Given the description of an element on the screen output the (x, y) to click on. 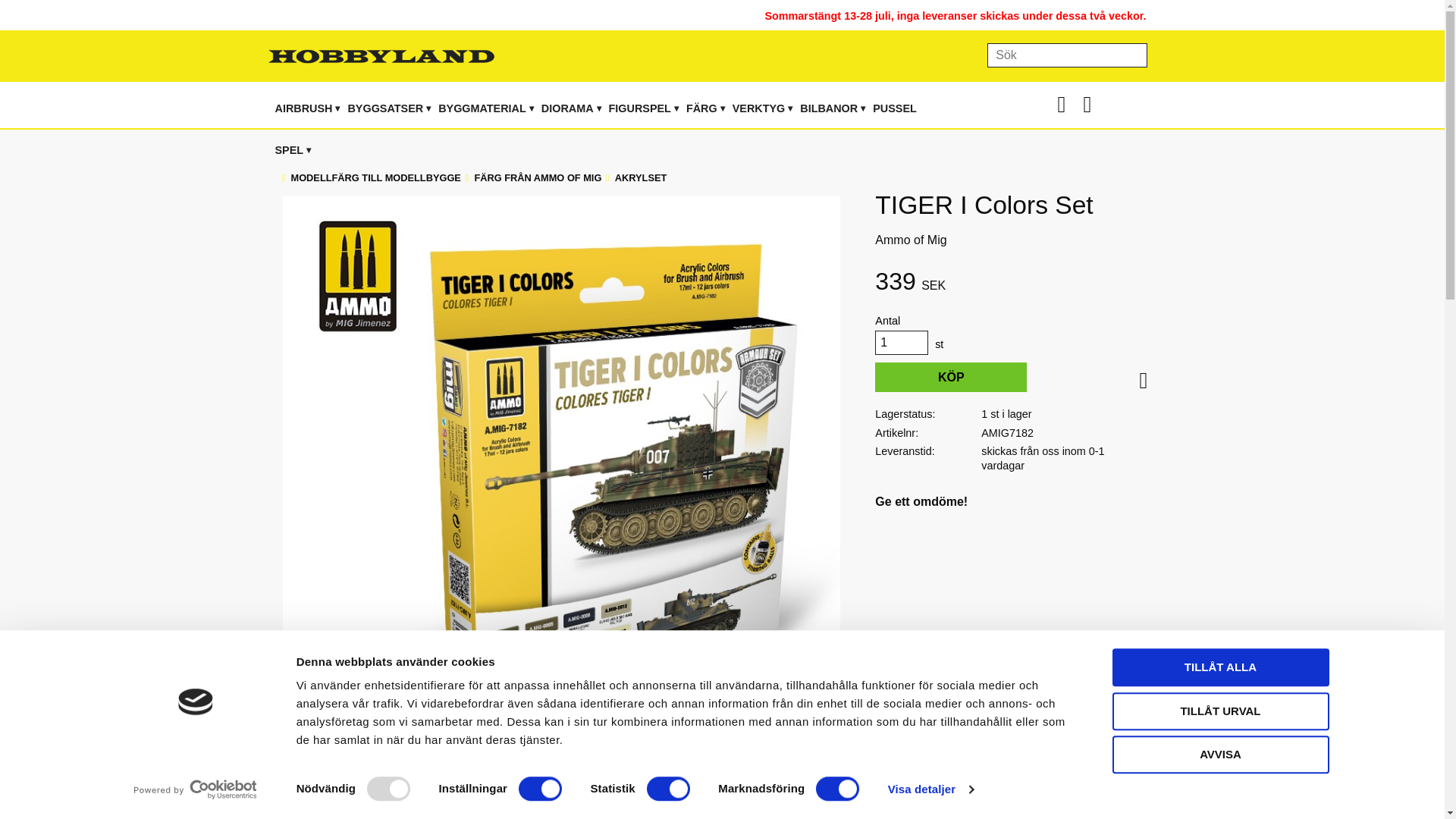
AIRBRUSH (302, 108)
1 (901, 342)
Byggsatser (384, 108)
Byggmaterial (482, 108)
Visa detaljer (931, 789)
AVVISA (1219, 754)
Airbrush (302, 108)
